Given the description of an element on the screen output the (x, y) to click on. 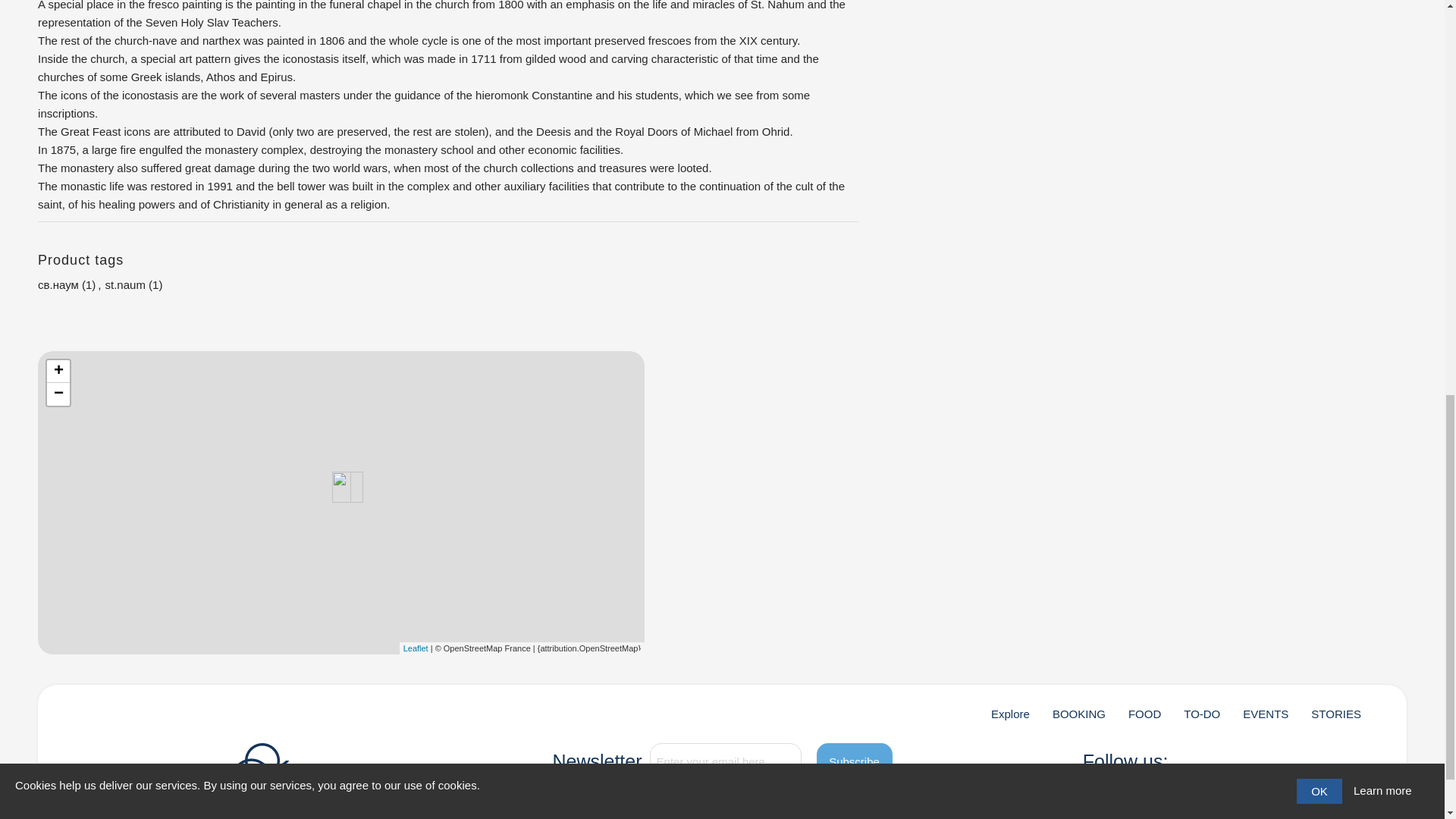
BOOKING (1078, 713)
STORIES (1336, 713)
A JS library for interactive maps (415, 646)
Leaflet (415, 646)
st.naum (124, 285)
EVENTS (1265, 713)
Explore (1010, 713)
FOOD (1144, 713)
Subscribe (854, 760)
Zoom in (57, 371)
